Given the description of an element on the screen output the (x, y) to click on. 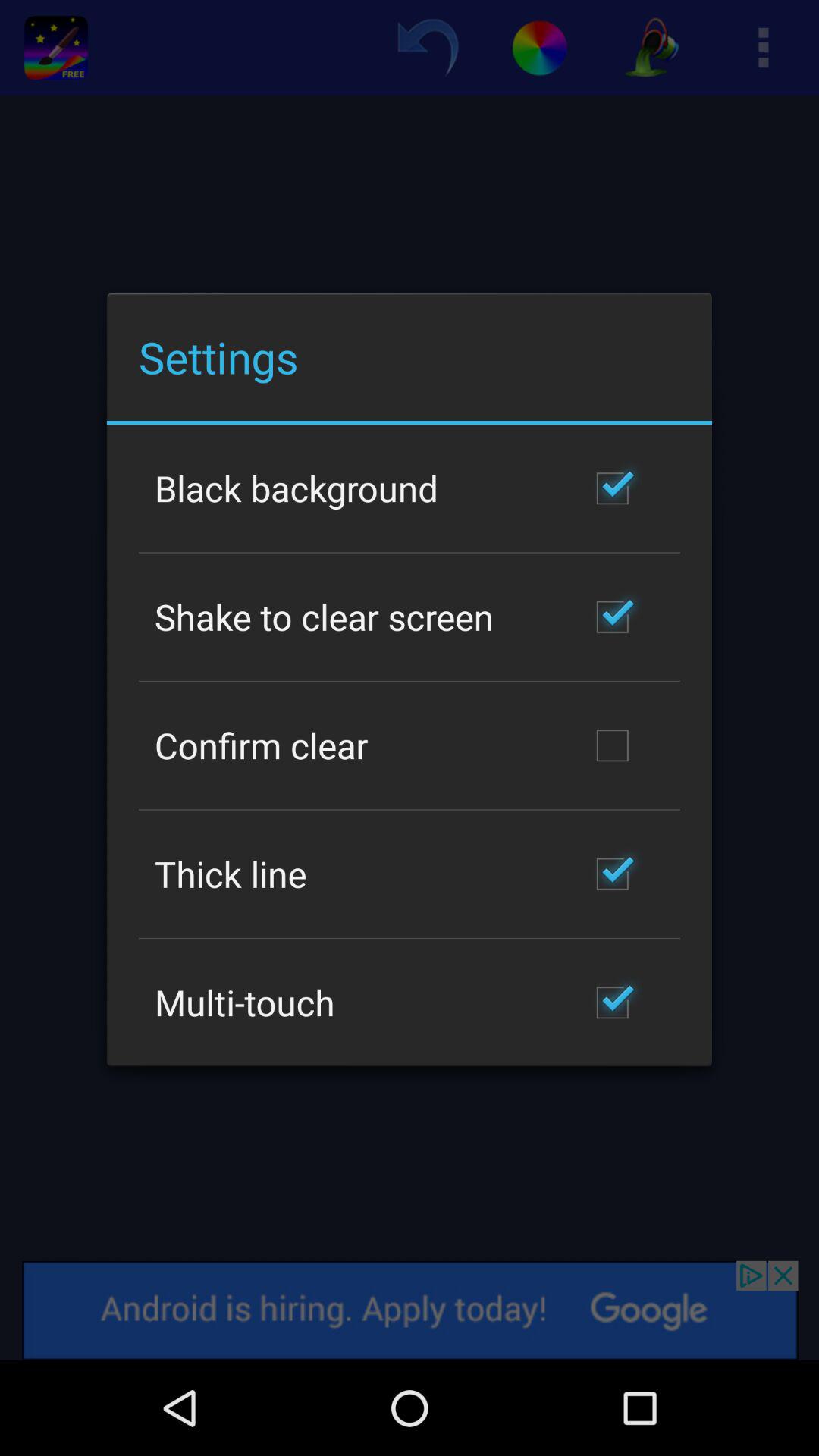
choose the item above thick line app (260, 745)
